Given the description of an element on the screen output the (x, y) to click on. 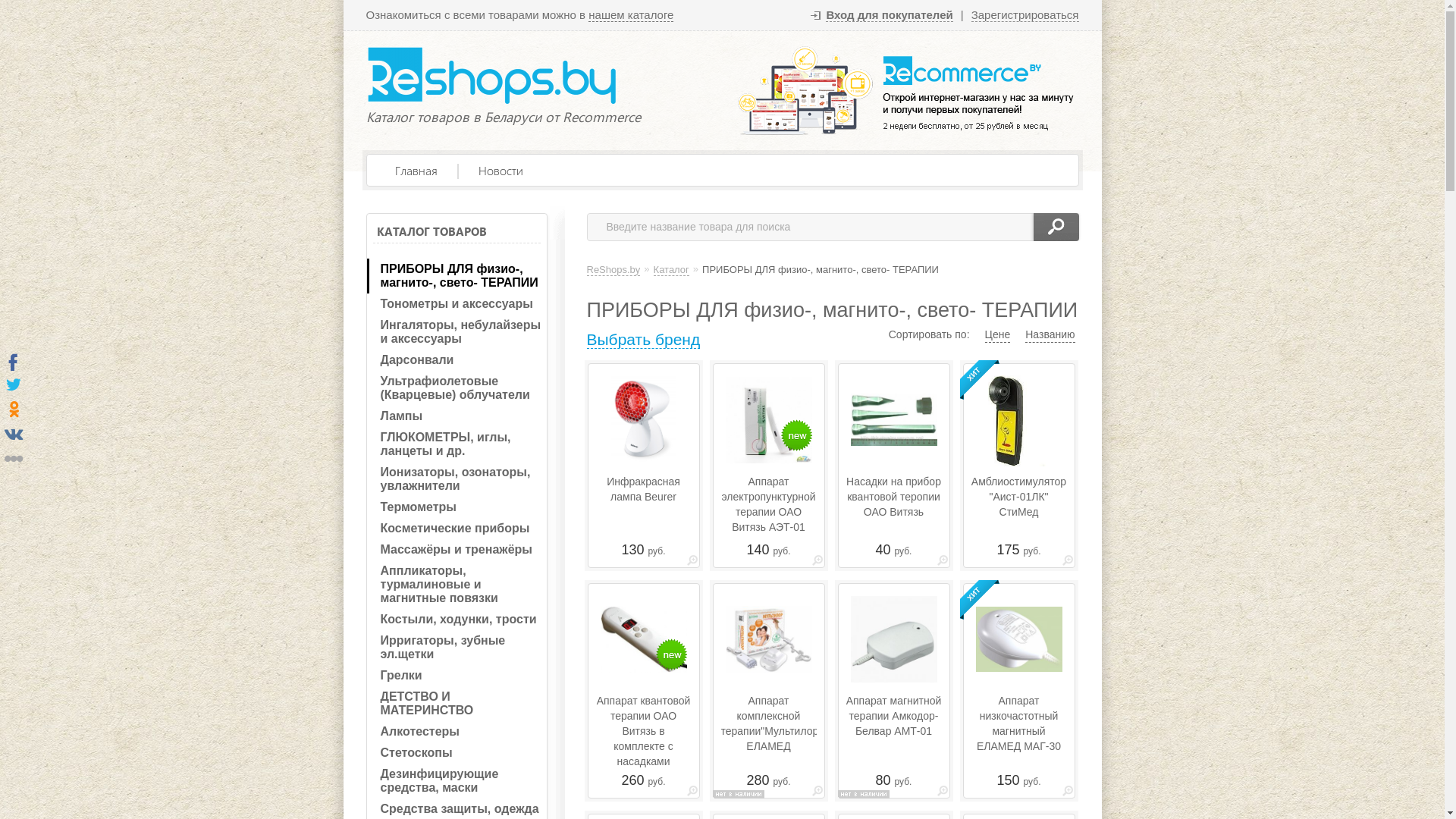
ReShops.by Element type: text (613, 269)
  Element type: text (1055, 227)
